Given the description of an element on the screen output the (x, y) to click on. 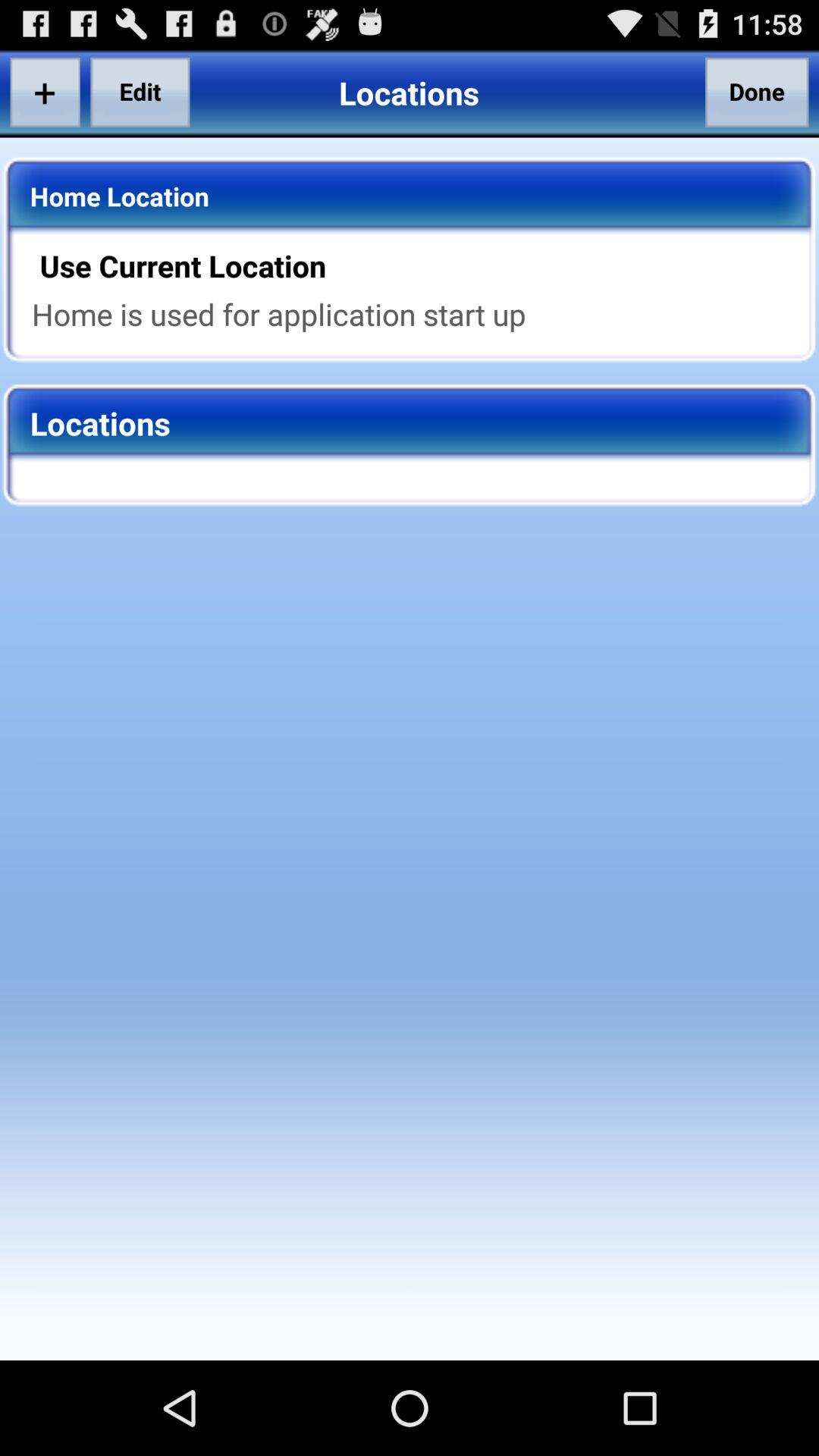
launch the item at the top right corner (756, 92)
